Given the description of an element on the screen output the (x, y) to click on. 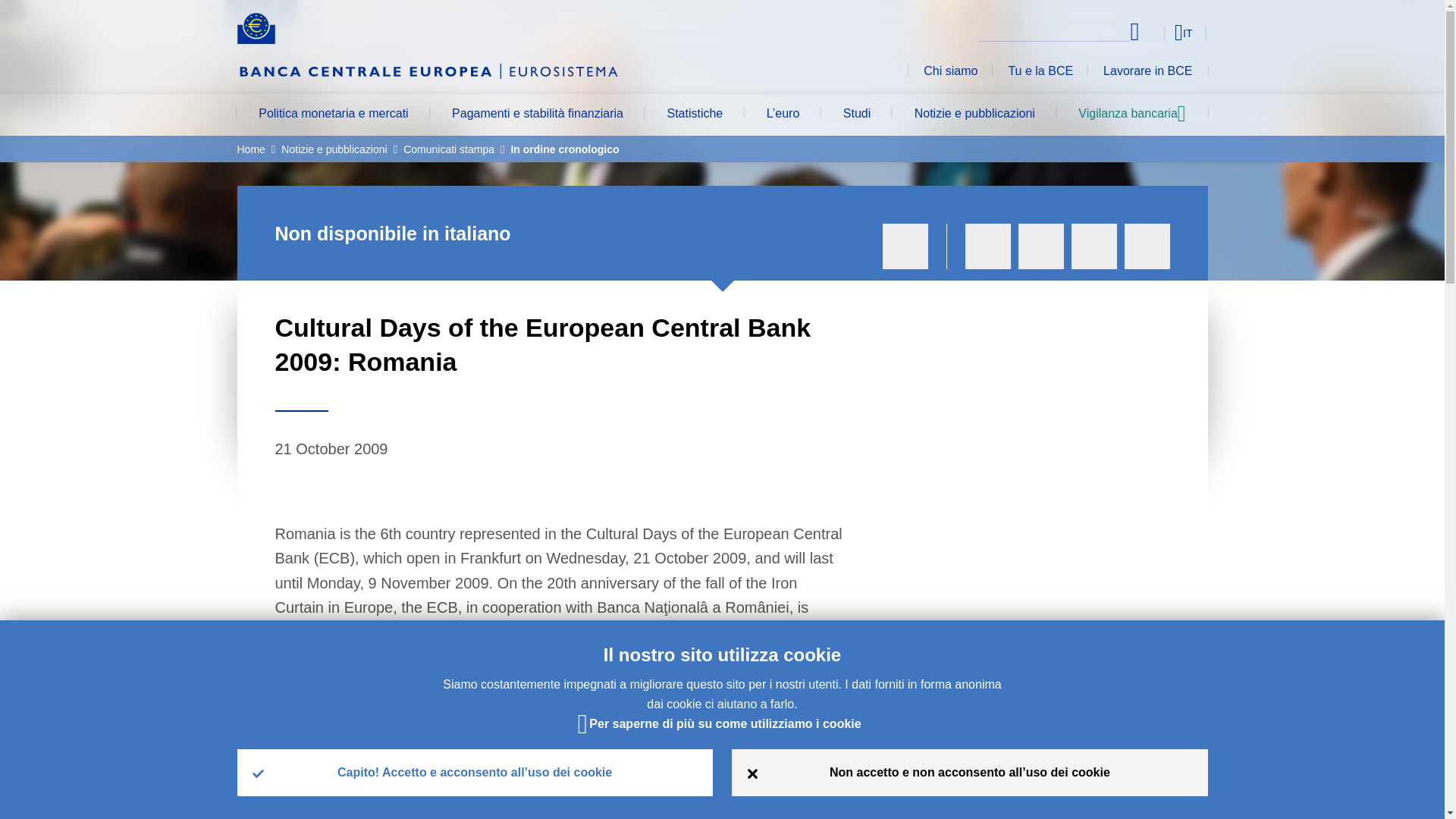
Select language (1153, 32)
Politica monetaria e mercati (332, 114)
